Given the description of an element on the screen output the (x, y) to click on. 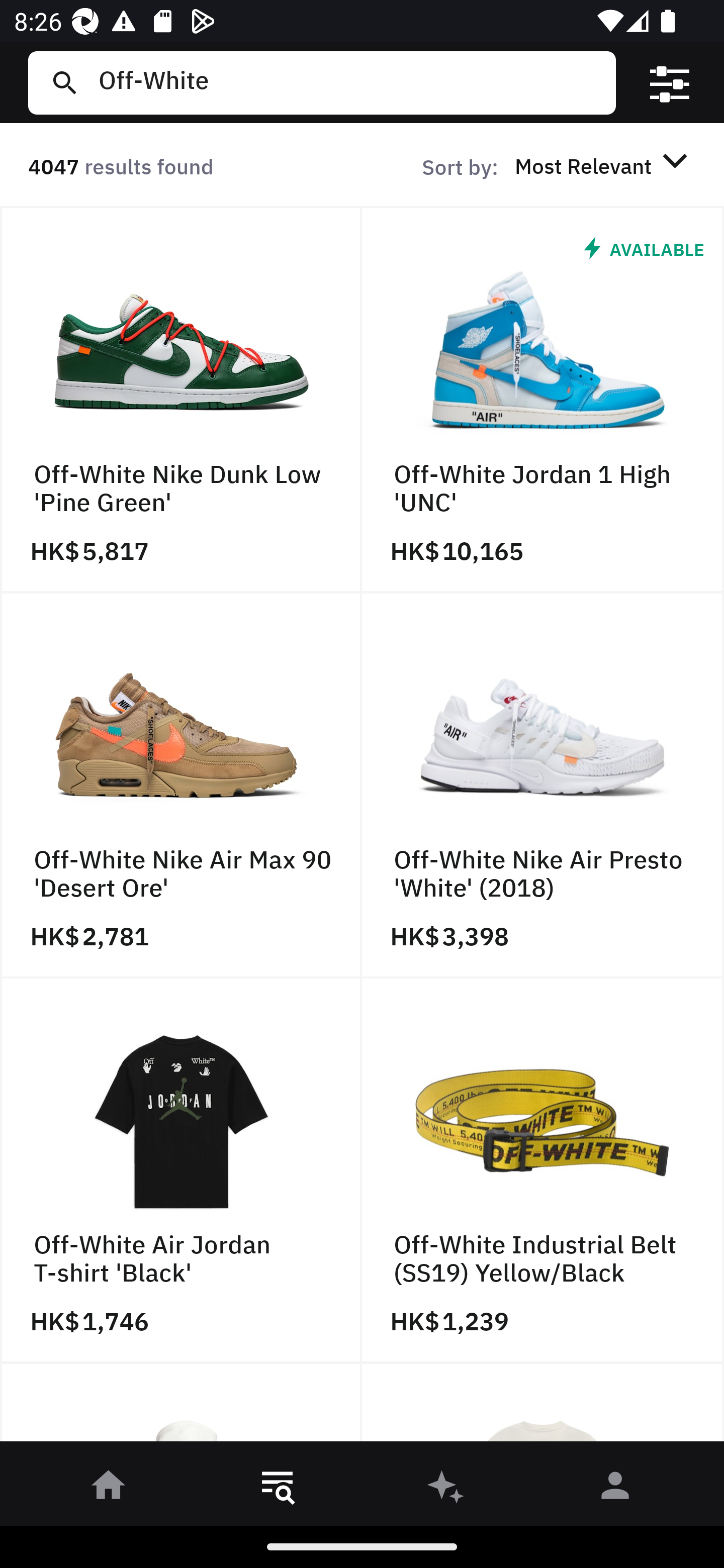
Off-White (349, 82)
 (669, 82)
Most Relevant  (604, 165)
Off-White Nike Dunk Low 'Pine Green' HK$ 5,817 (181, 399)
Off-White Nike Air Max 90 'Desert Ore' HK$ 2,781 (181, 785)
Off-White Nike Air Presto 'White' (2018) HK$ 3,398 (543, 785)
Off-White Air Jordan T-shirt 'Black' HK$ 1,746 (181, 1171)
󰋜 (108, 1488)
󱎸 (277, 1488)
󰫢 (446, 1488)
󰀄 (615, 1488)
